Given the description of an element on the screen output the (x, y) to click on. 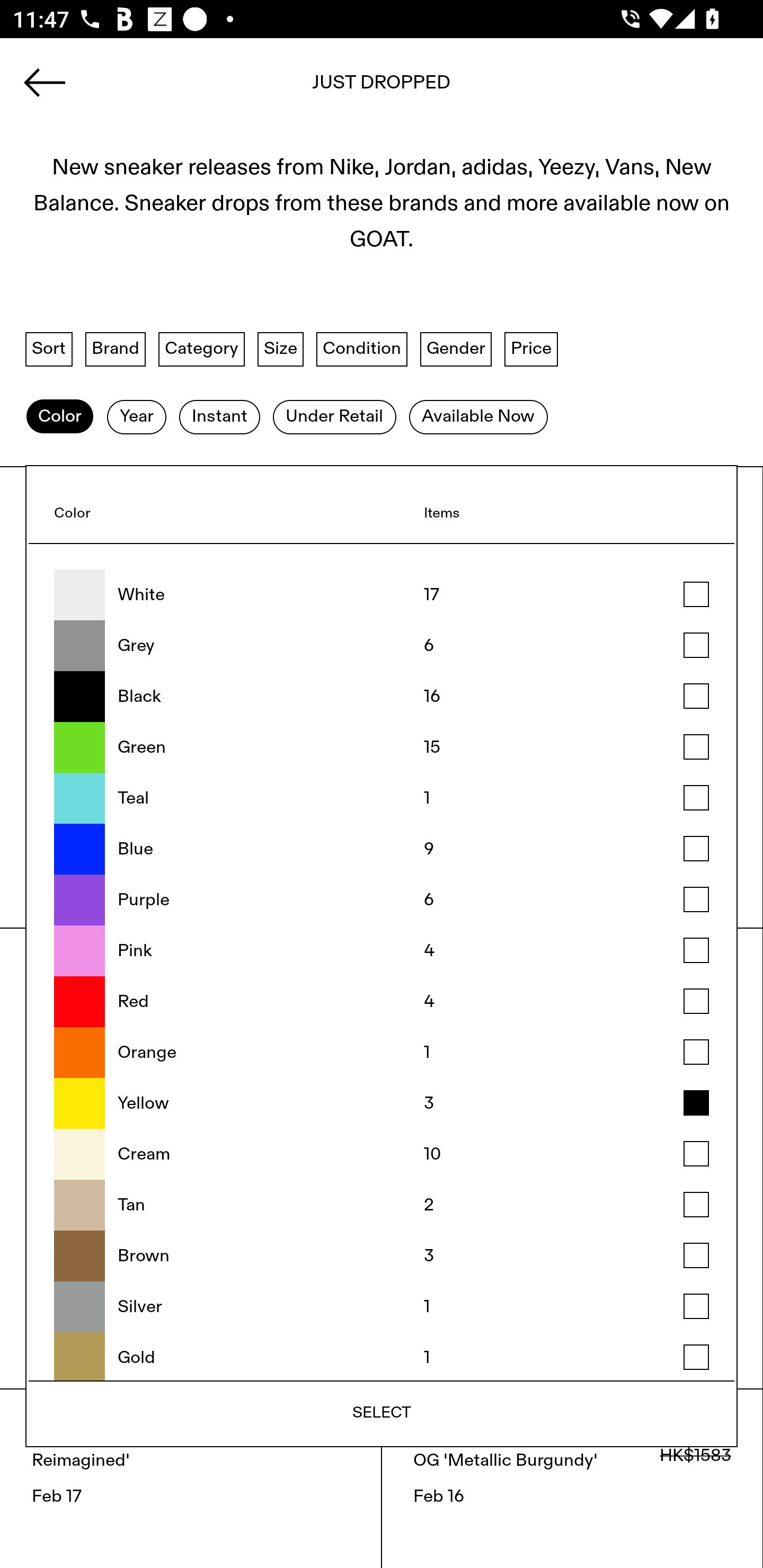
soccer shoes (381, 88)
Sort (48, 348)
Brand (115, 348)
Category (201, 348)
Size (280, 348)
Condition (361, 348)
Gender (455, 348)
Price (530, 348)
Color (59, 416)
Year (136, 416)
Instant (219, 416)
Under Retail (334, 416)
Available Now (477, 416)
White 17 (381, 594)
Grey 6 (381, 645)
Black 16 (381, 696)
Green 15 (381, 747)
Teal 1 (381, 798)
Blue 9 (381, 848)
Purple 6 (381, 899)
Pink 4 (381, 950)
Red 4 (381, 1001)
Orange 1 (381, 1052)
Yellow 3 (381, 1103)
Cream 10 (381, 1153)
Tan 2 (381, 1204)
Brown 3 (381, 1255)
Silver 1 (381, 1306)
Gold 1 (381, 1355)
SELECT (381, 1412)
